Given the description of an element on the screen output the (x, y) to click on. 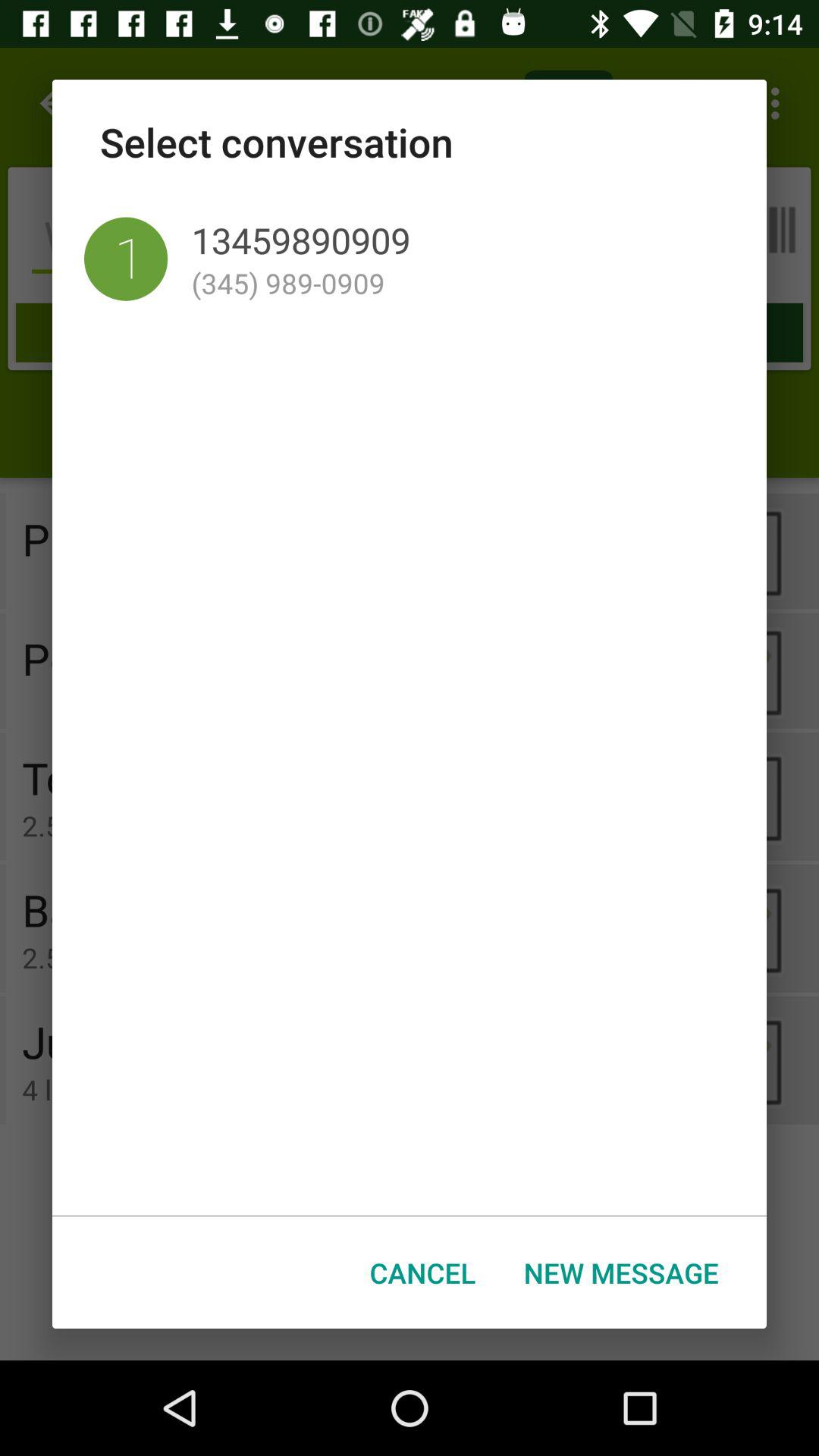
click the item to the right of the cancel icon (620, 1272)
